Given the description of an element on the screen output the (x, y) to click on. 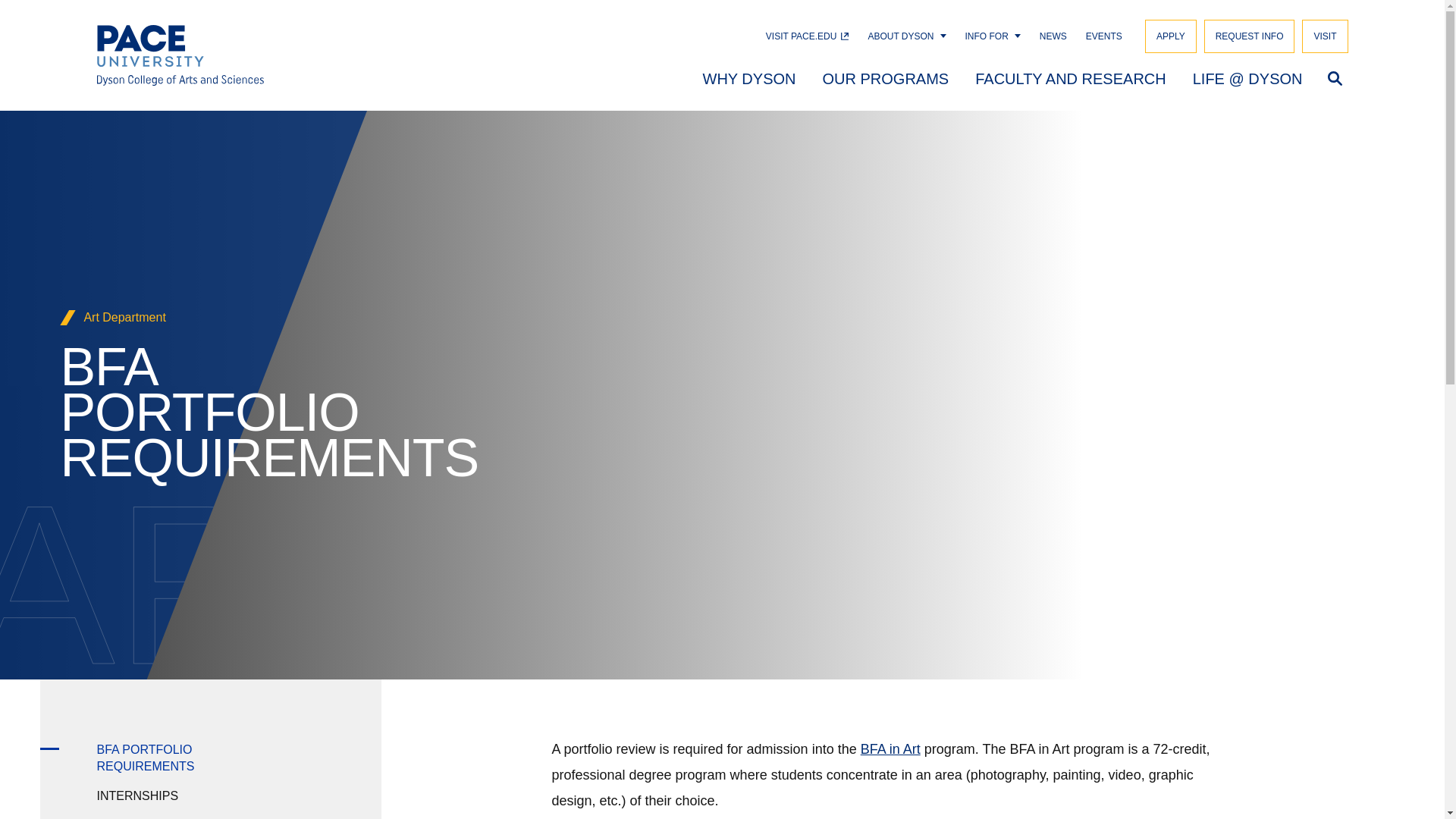
VISIT PACE.EDU (806, 36)
APPLY (1170, 36)
REQUEST INFO (1249, 36)
VISIT (1324, 36)
INFO FOR (987, 36)
EVENTS (1104, 36)
OUR PROGRAMS (885, 76)
NEWS (1053, 36)
WHY DYSON (747, 76)
ABOUT DYSON (900, 36)
